Given the description of an element on the screen output the (x, y) to click on. 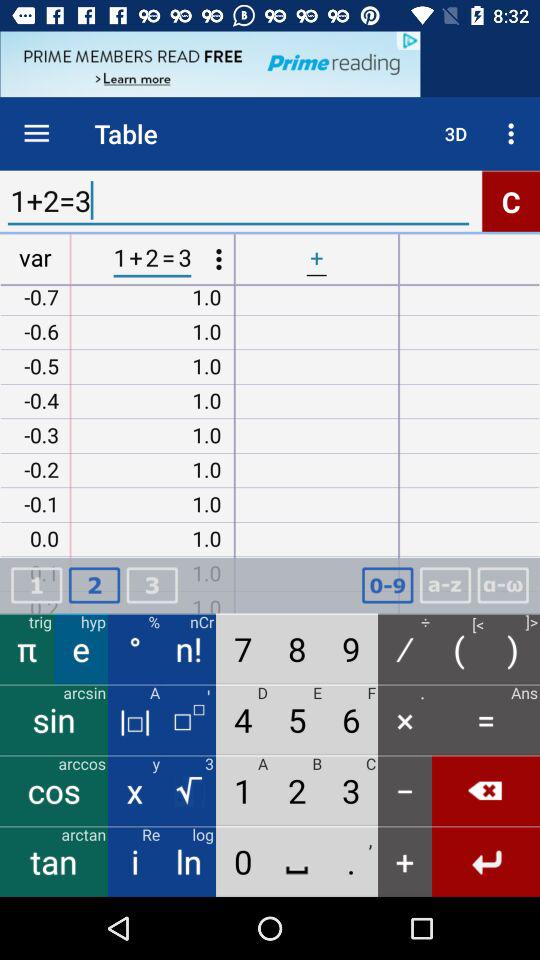
keyboard option (387, 585)
